Given the description of an element on the screen output the (x, y) to click on. 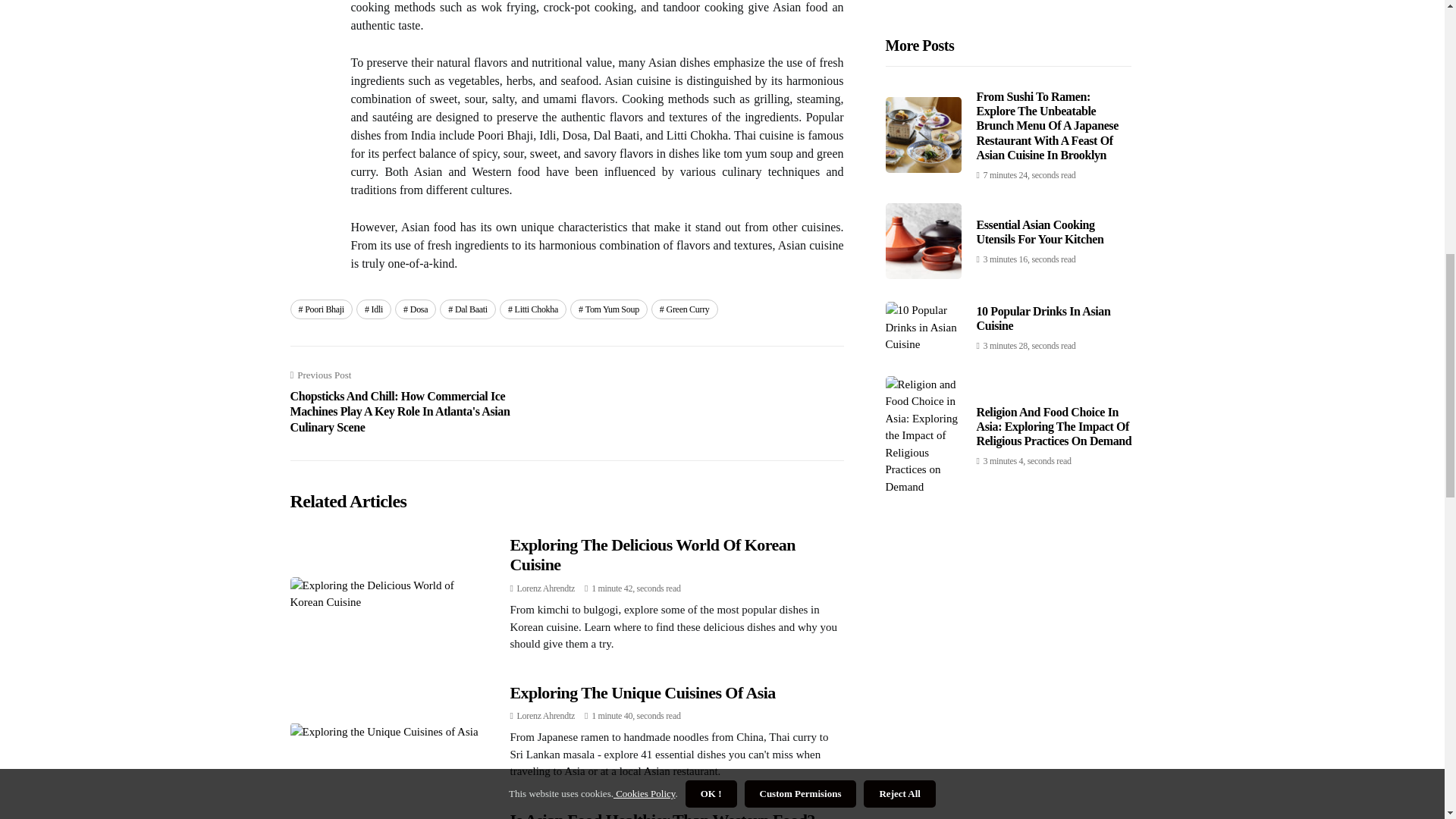
Lorenz Ahrendtz (545, 715)
Dal Baati (467, 309)
Posts by Lorenz Ahrendtz (545, 588)
Litti Chokha (532, 309)
Poori Bhaji (320, 309)
Is Asian Food Healthier Than Western Food? (661, 814)
Posts by Lorenz Ahrendtz (545, 715)
Dosa (414, 309)
Green Curry (683, 309)
